Given the description of an element on the screen output the (x, y) to click on. 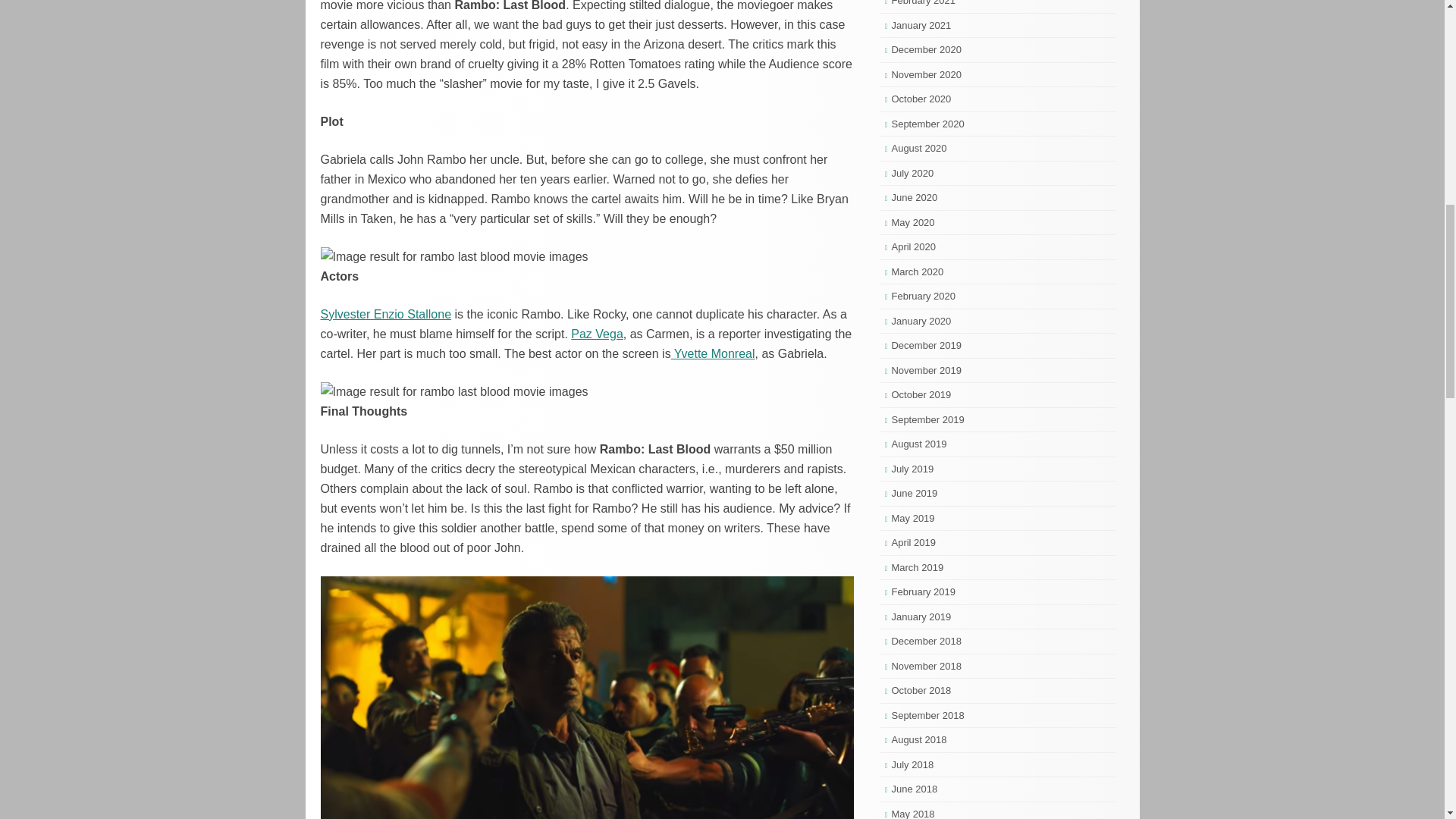
Paz Vega (596, 333)
Sylvester Enzio Stallone (385, 314)
Yvette Monreal (713, 353)
